Given the description of an element on the screen output the (x, y) to click on. 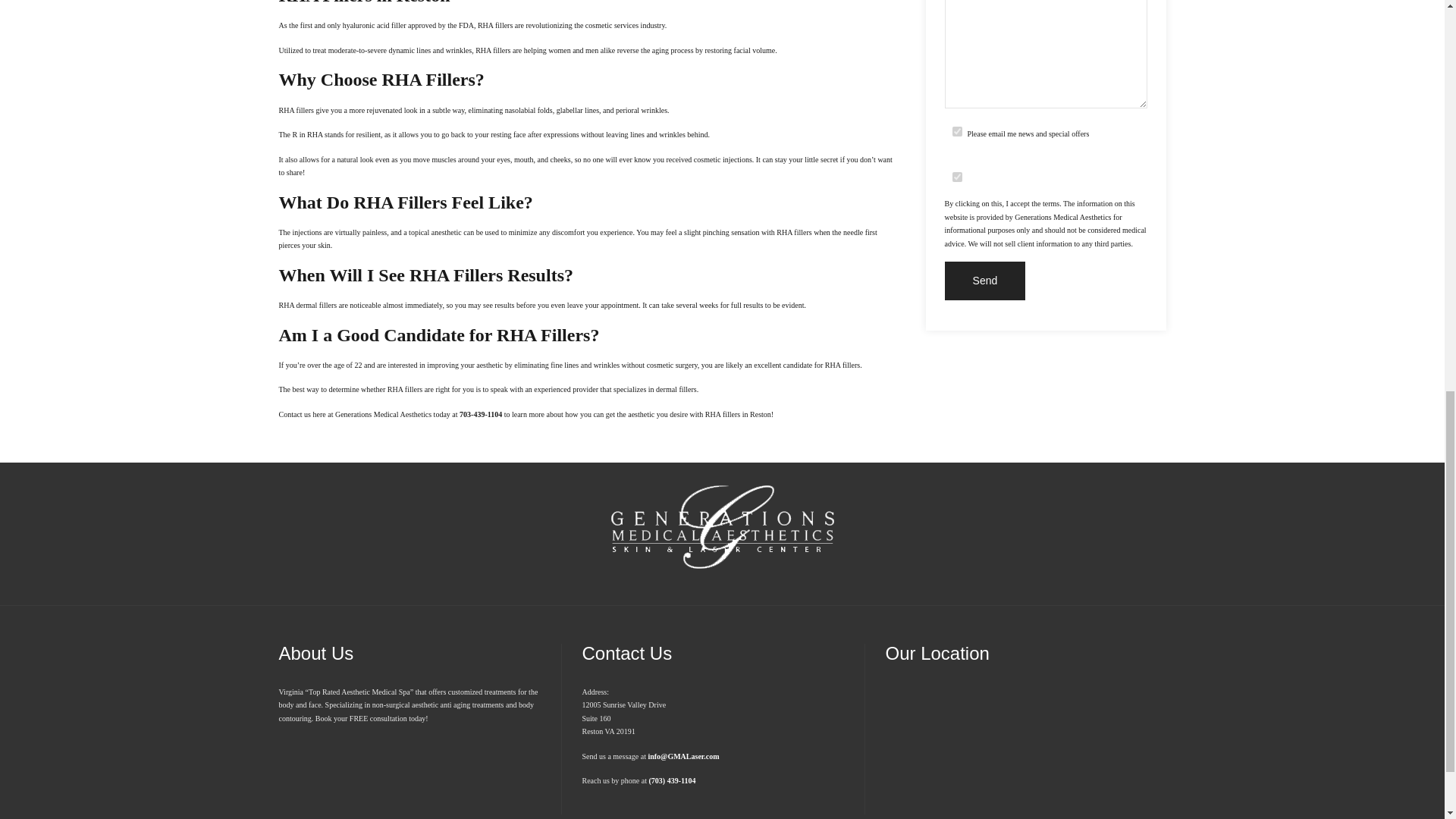
Please email me news and special offers (957, 130)
Send (985, 280)
1 (957, 175)
